Given the description of an element on the screen output the (x, y) to click on. 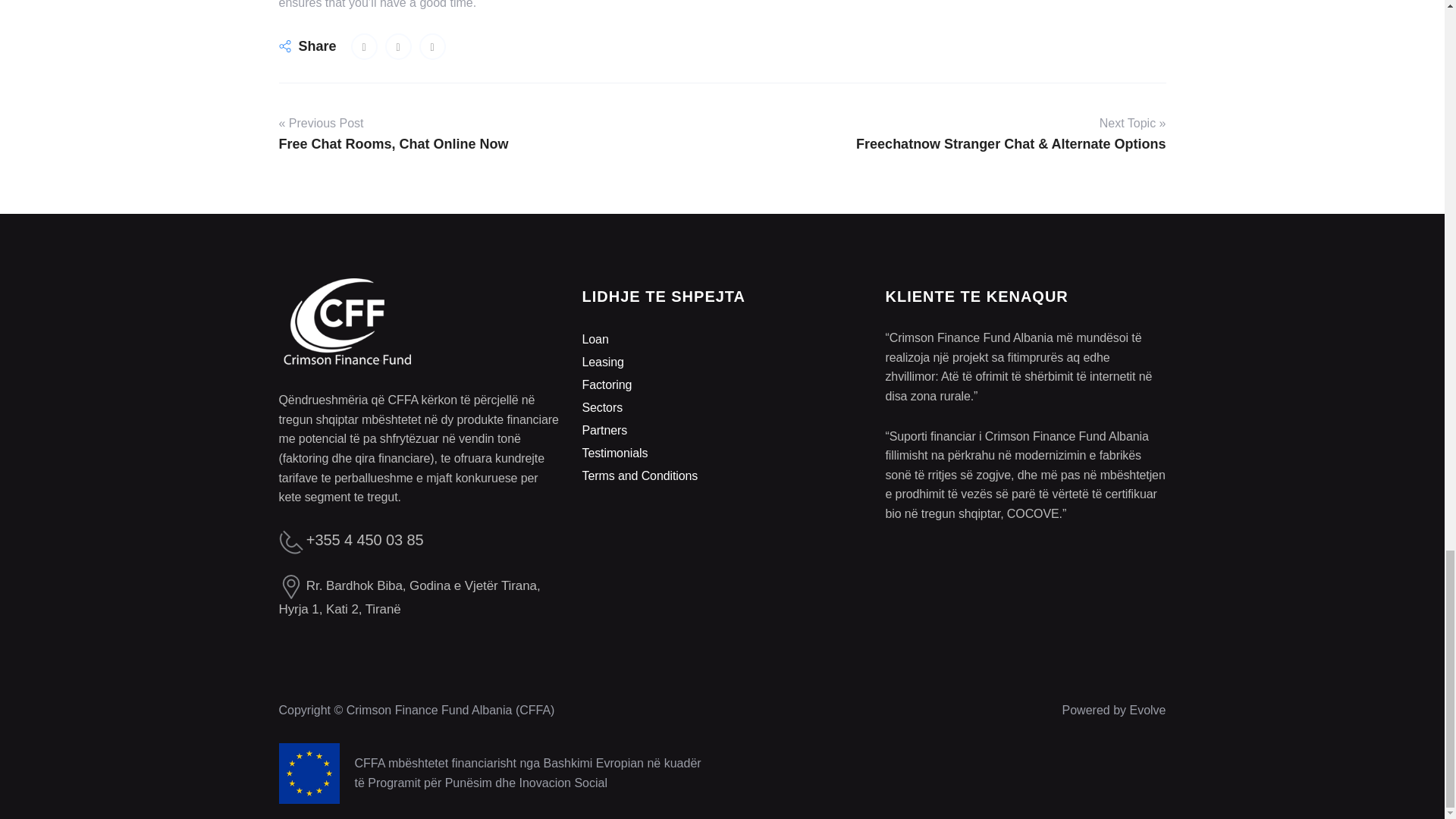
Sexchat (432, 46)
Factoring (605, 384)
Sexchat (363, 46)
Sexchat (398, 46)
Leasing (601, 361)
Sectors (601, 407)
Loan (594, 338)
